Given the description of an element on the screen output the (x, y) to click on. 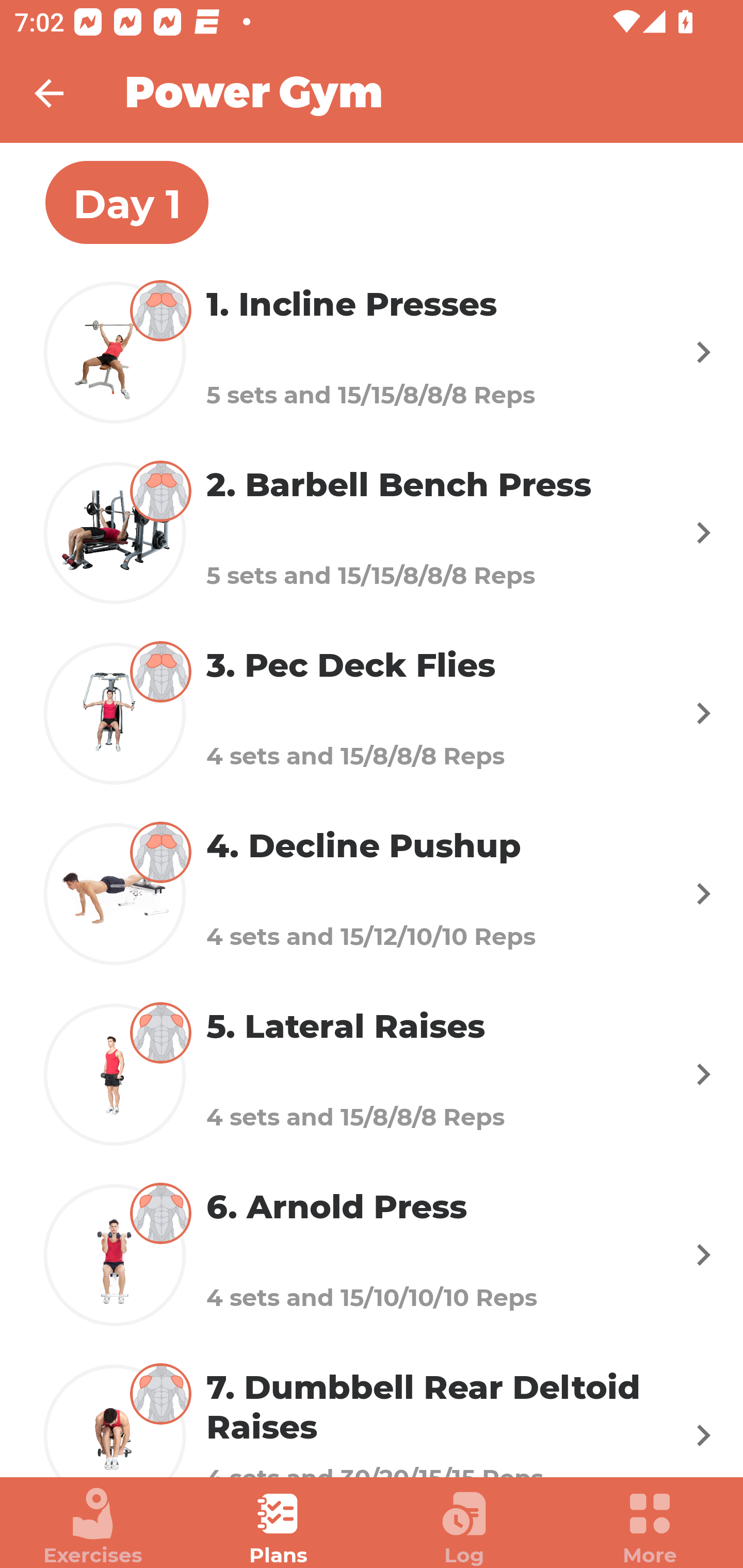
Back (62, 92)
1. Incline Presses 5 sets and 15/15/8/8/8 Reps (371, 351)
2. Barbell Bench Press 5 sets and 15/15/8/8/8 Reps (371, 532)
3. Pec Deck Flies 4 sets and 15/8/8/8 Reps (371, 712)
4. Decline Pushup 4 sets and 15/12/10/10 Reps (371, 893)
5. Lateral Raises 4 sets and 15/8/8/8 Reps (371, 1074)
6. Arnold Press 4 sets and 15/10/10/10 Reps (371, 1255)
Exercises (92, 1527)
Plans (278, 1527)
Log (464, 1527)
More (650, 1527)
